Given the description of an element on the screen output the (x, y) to click on. 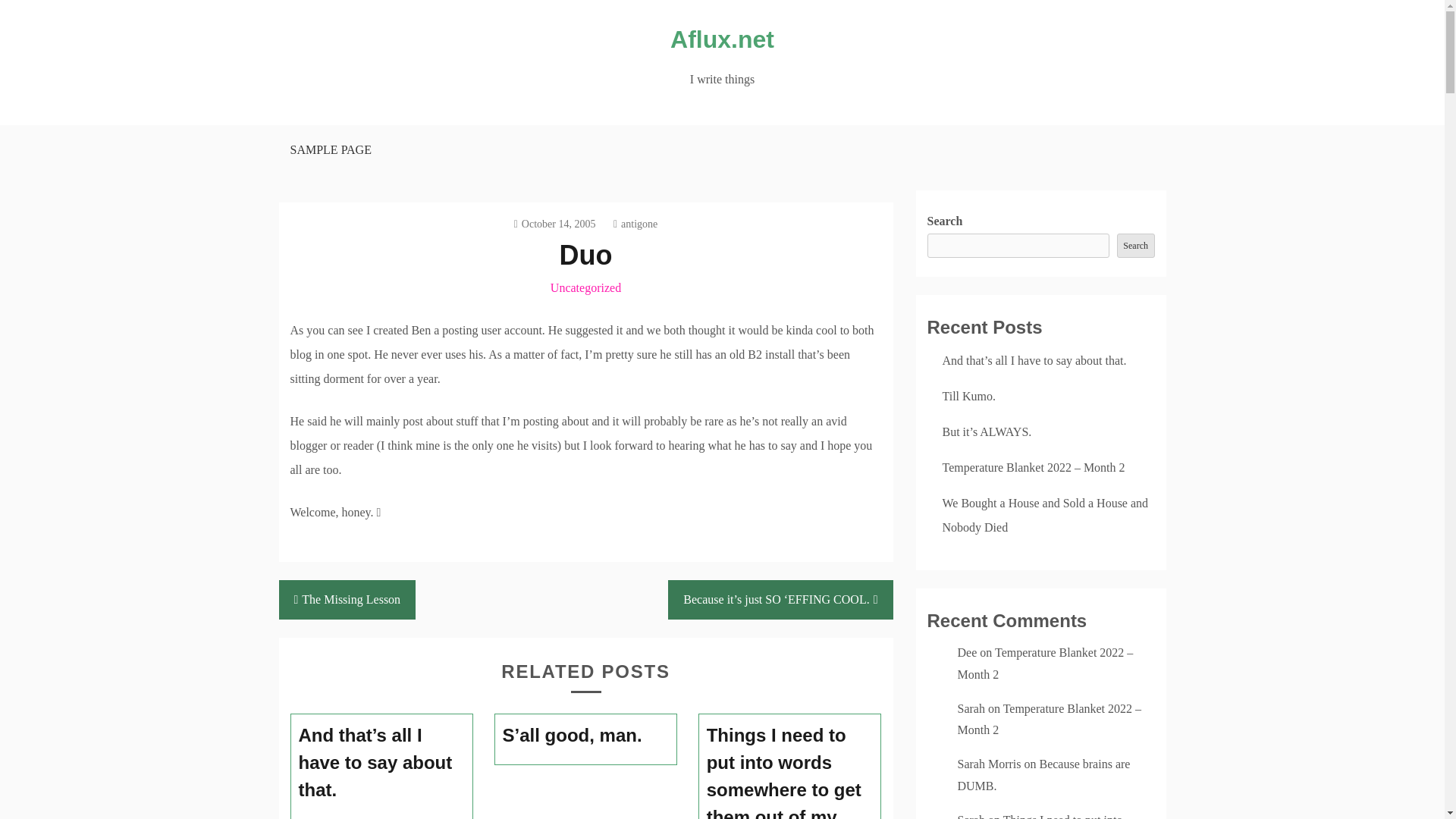
Dee (966, 652)
Uncategorized (585, 287)
We Bought a House and Sold a House and Nobody Died (1045, 514)
Till Kumo. (968, 395)
antigone (635, 224)
The Missing Lesson (347, 599)
Aflux.net (721, 39)
Because brains are DUMB. (1042, 774)
October 14, 2005 (554, 224)
Search (1135, 245)
SAMPLE PAGE (329, 150)
Sarah (970, 707)
